Given the description of an element on the screen output the (x, y) to click on. 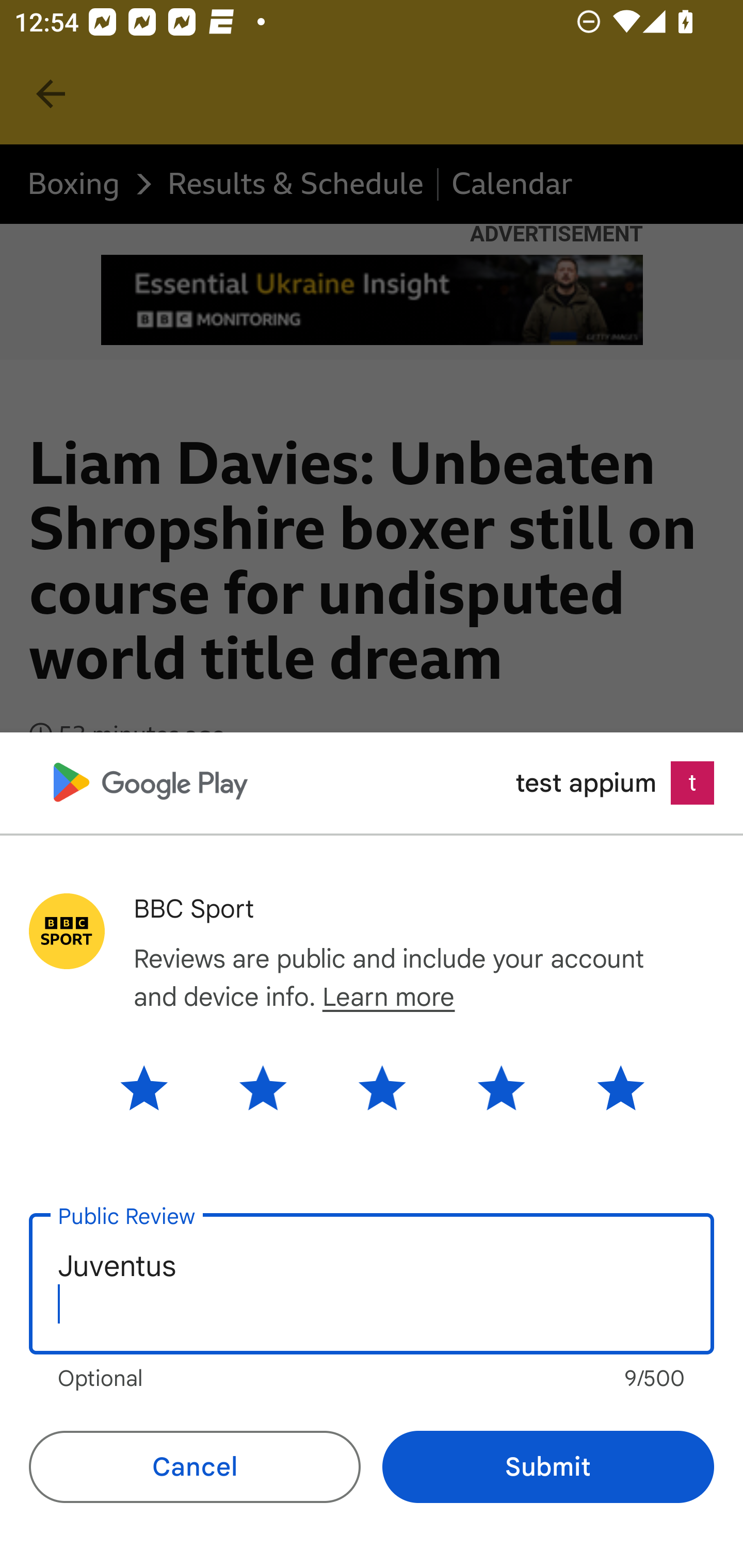
First star selected (159, 1087)
Second star selected (262, 1087)
Third star selected (381, 1087)
Fourth star selected (500, 1087)
Fifth star selected (604, 1087)
Juventus
 (371, 1283)
Cancel (194, 1466)
Submit (548, 1466)
